Given the description of an element on the screen output the (x, y) to click on. 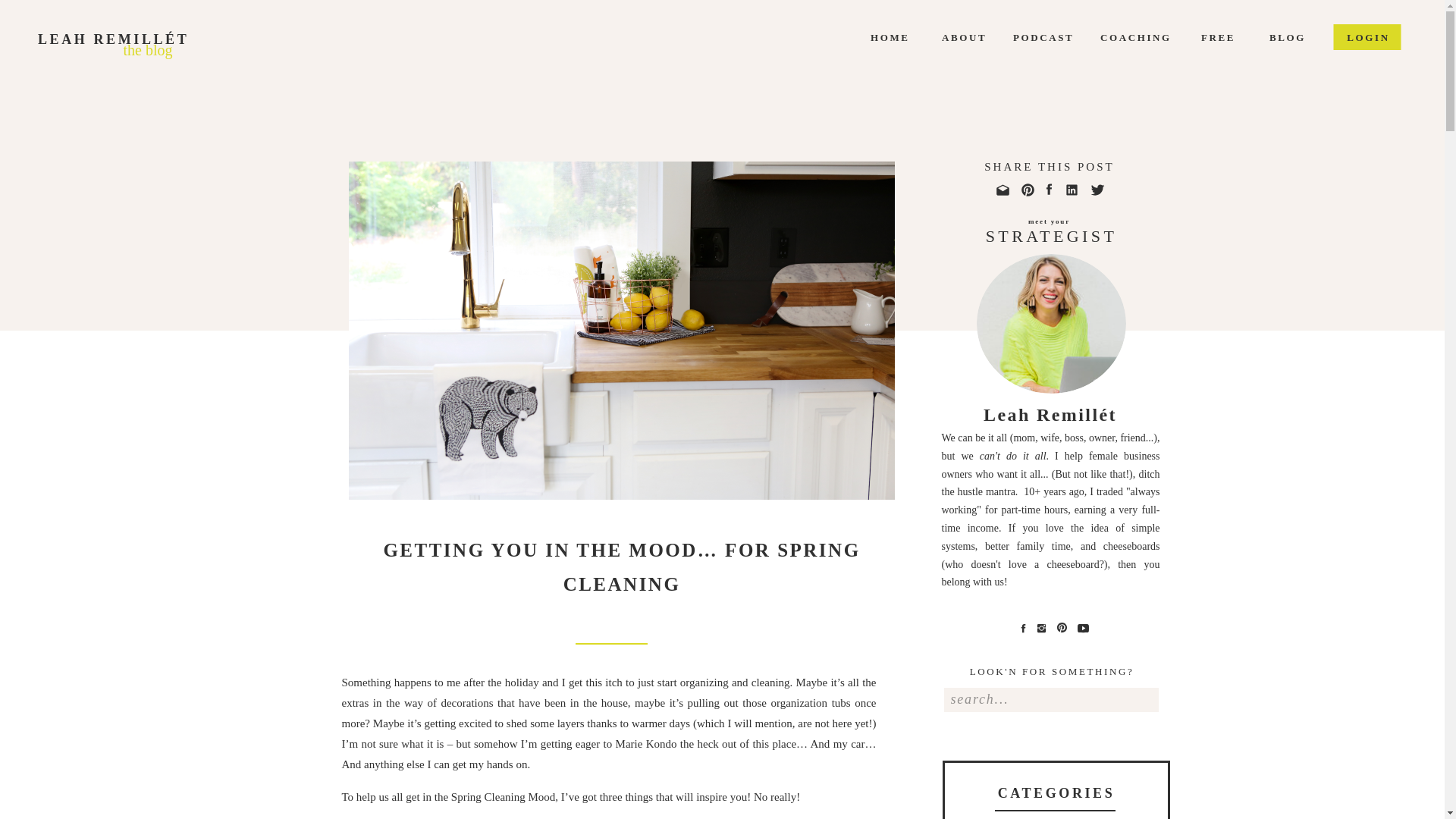
COACHING (1148, 36)
FREE (1233, 36)
PODCAST (1054, 36)
BLOG (1288, 36)
LOGIN (1367, 36)
ABOUT (974, 36)
the blog (147, 49)
HOME (911, 36)
